Given the description of an element on the screen output the (x, y) to click on. 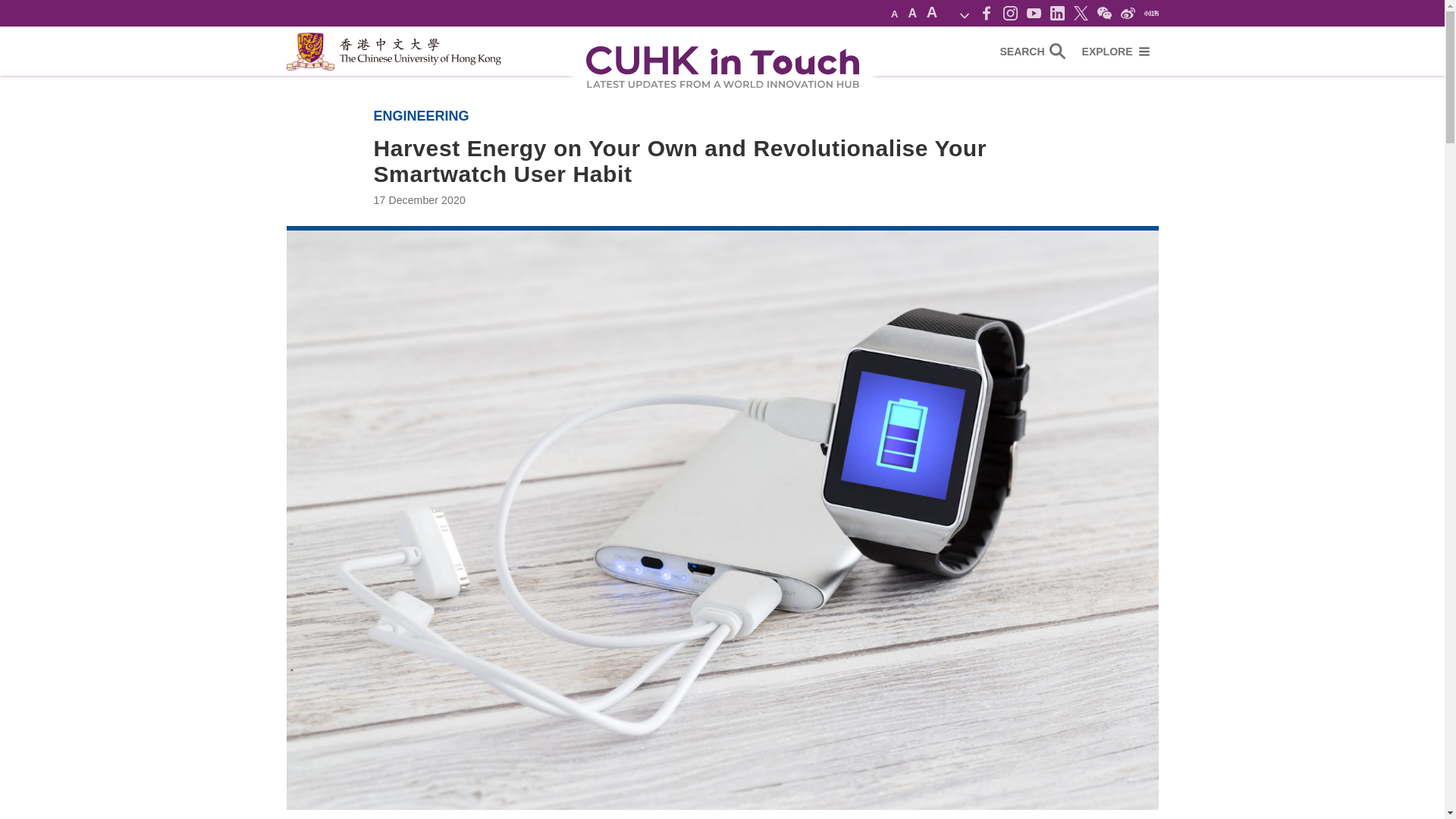
Reset font size (912, 12)
A (931, 12)
A (893, 13)
A (912, 12)
Decrease font size (893, 13)
Increase font size (931, 12)
